Given the description of an element on the screen output the (x, y) to click on. 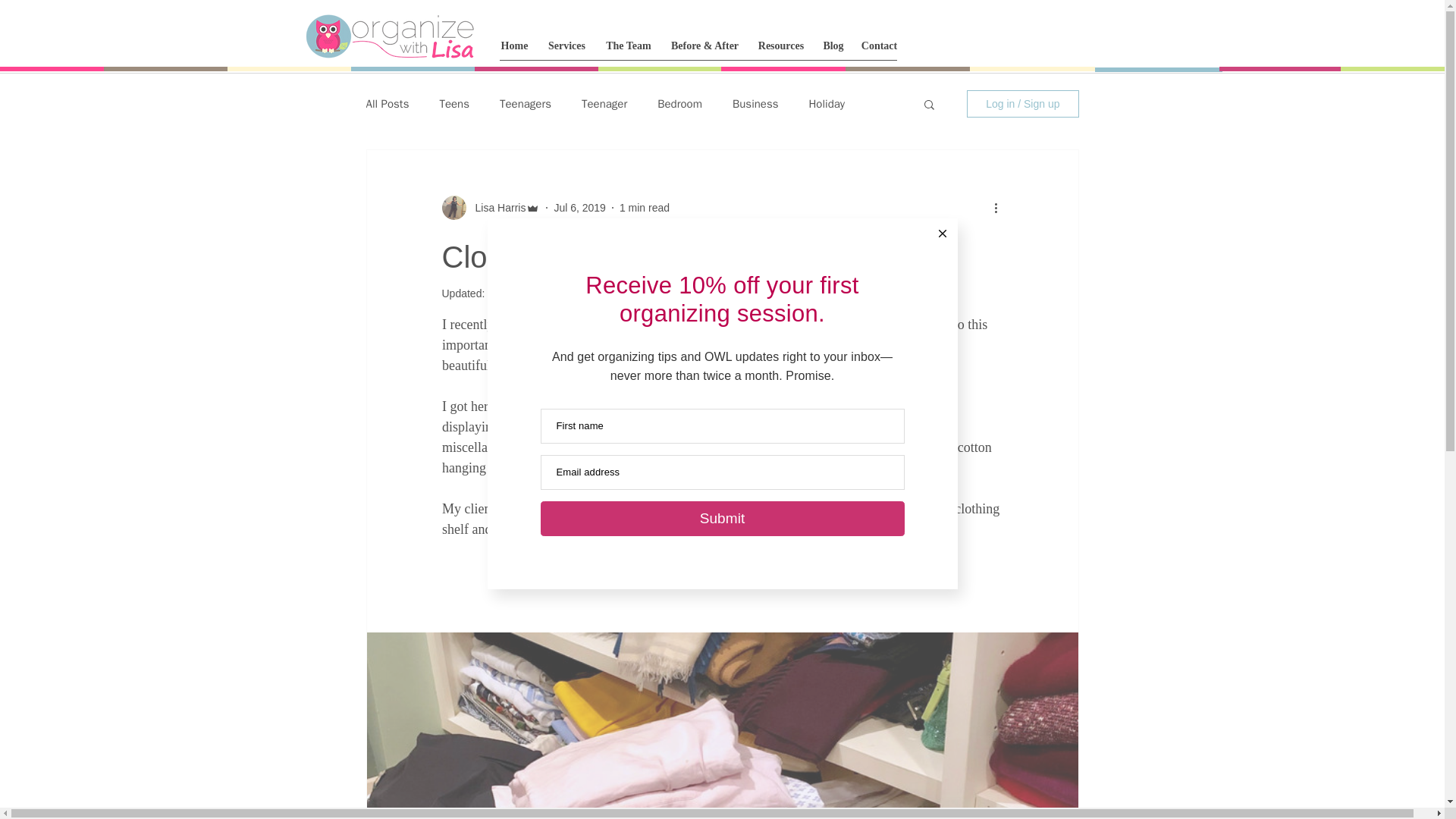
Blog (832, 45)
Teens (453, 104)
Holiday (826, 104)
Teenagers (525, 104)
The Team (628, 45)
Sep 7, 2020 (515, 293)
Resources (780, 45)
Lisa Harris (495, 207)
Business (755, 104)
Bedroom (679, 104)
All Posts (387, 104)
Teenager (603, 104)
Home (514, 45)
Contact (878, 45)
Services (566, 45)
